Given the description of an element on the screen output the (x, y) to click on. 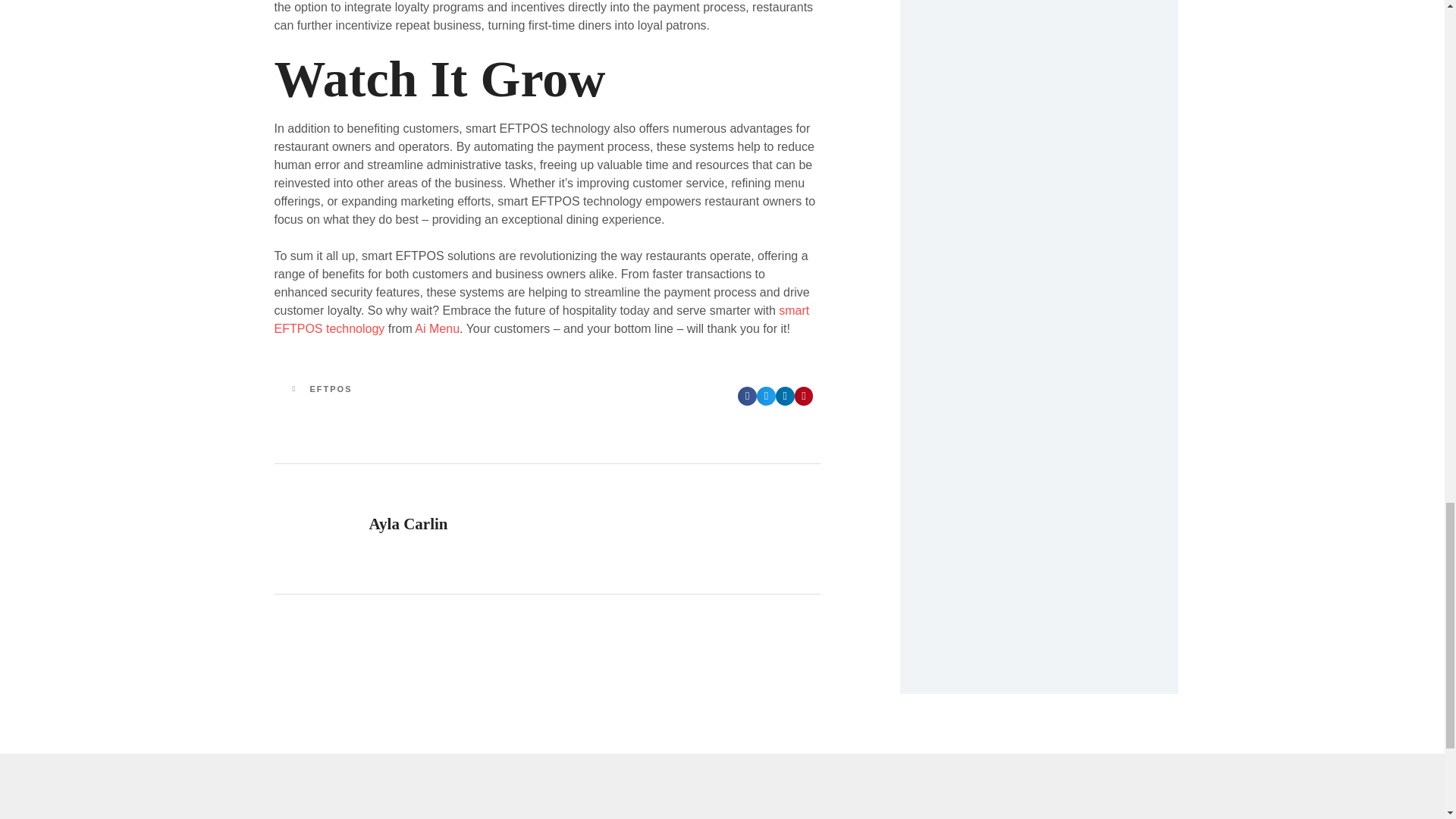
Ayla Carlin (548, 528)
EFTPOS (405, 398)
